Given the description of an element on the screen output the (x, y) to click on. 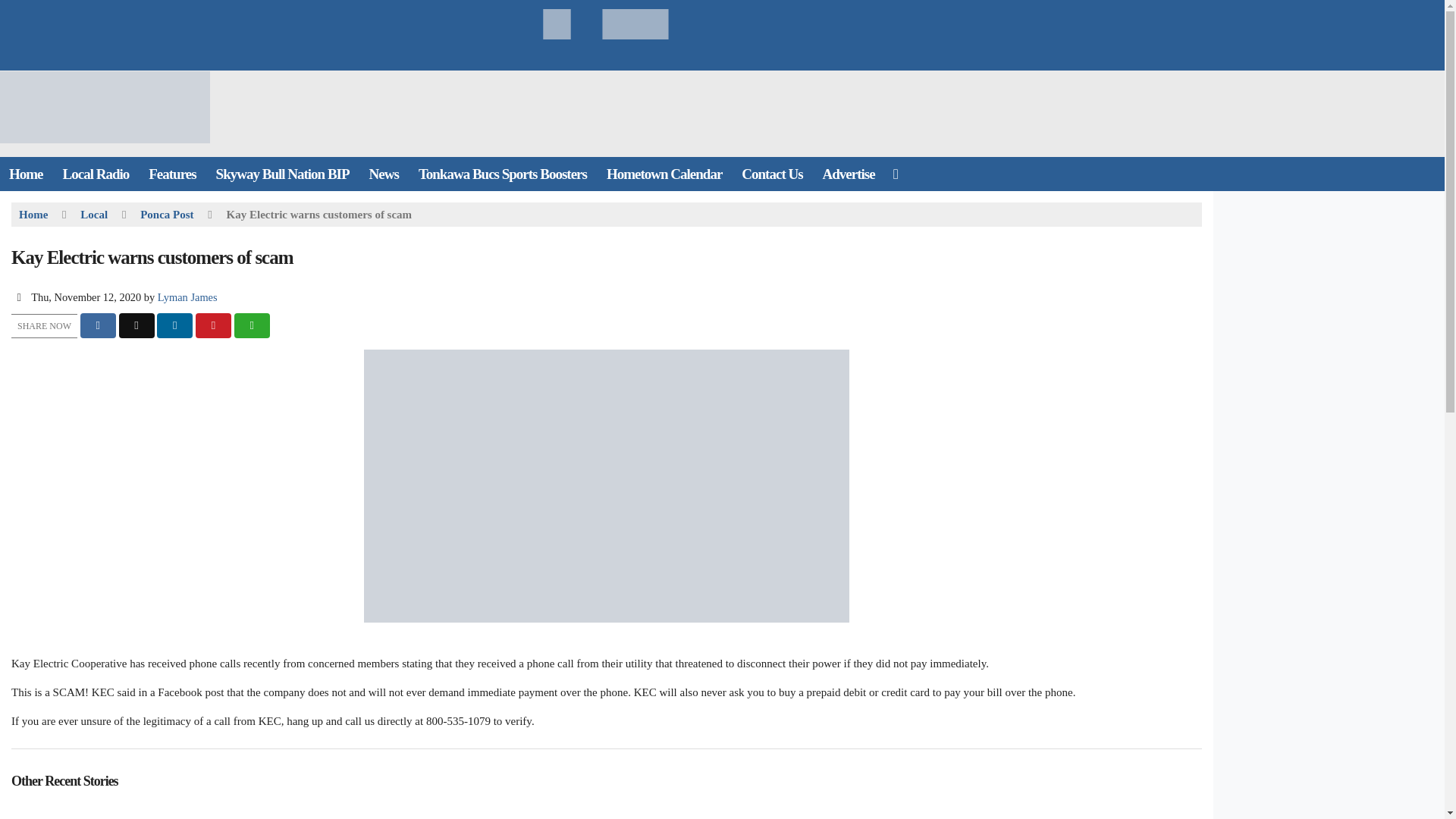
Share to LinkedIn (174, 324)
Share via E-Mail (251, 324)
Posts by Lyman James (186, 297)
Share to X (135, 324)
Students Return from Cooperative Youth Leadership Camp (204, 810)
Share to Facebook (98, 324)
Share to Pinterest (213, 324)
